Given the description of an element on the screen output the (x, y) to click on. 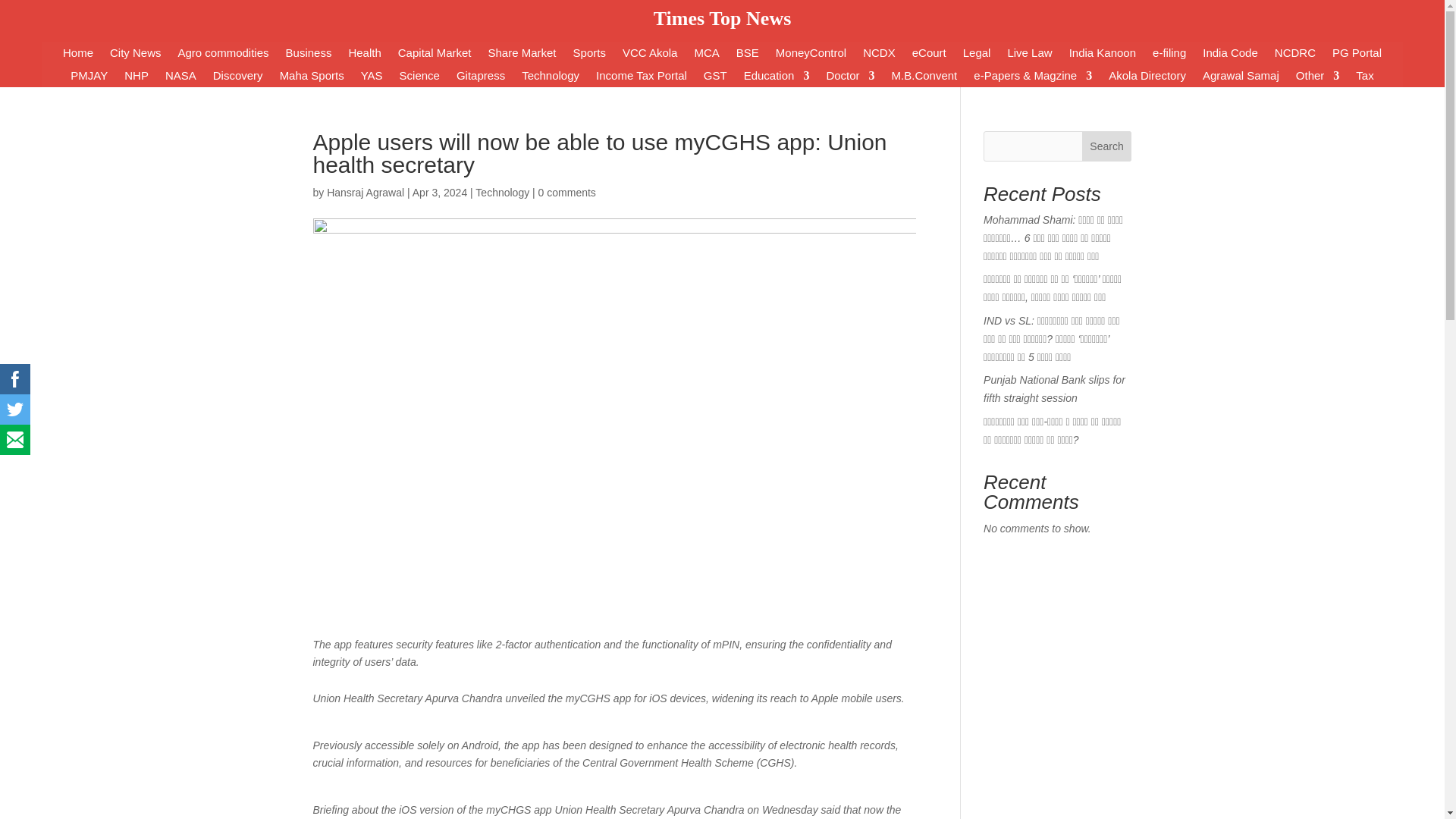
NHP (135, 78)
VCC Akola (650, 55)
PMJAY (88, 78)
eCourt (929, 55)
Live Law (1029, 55)
Share Market (521, 55)
Health (363, 55)
BSE (747, 55)
Sports (589, 55)
India Kanoon (1101, 55)
